Given the description of an element on the screen output the (x, y) to click on. 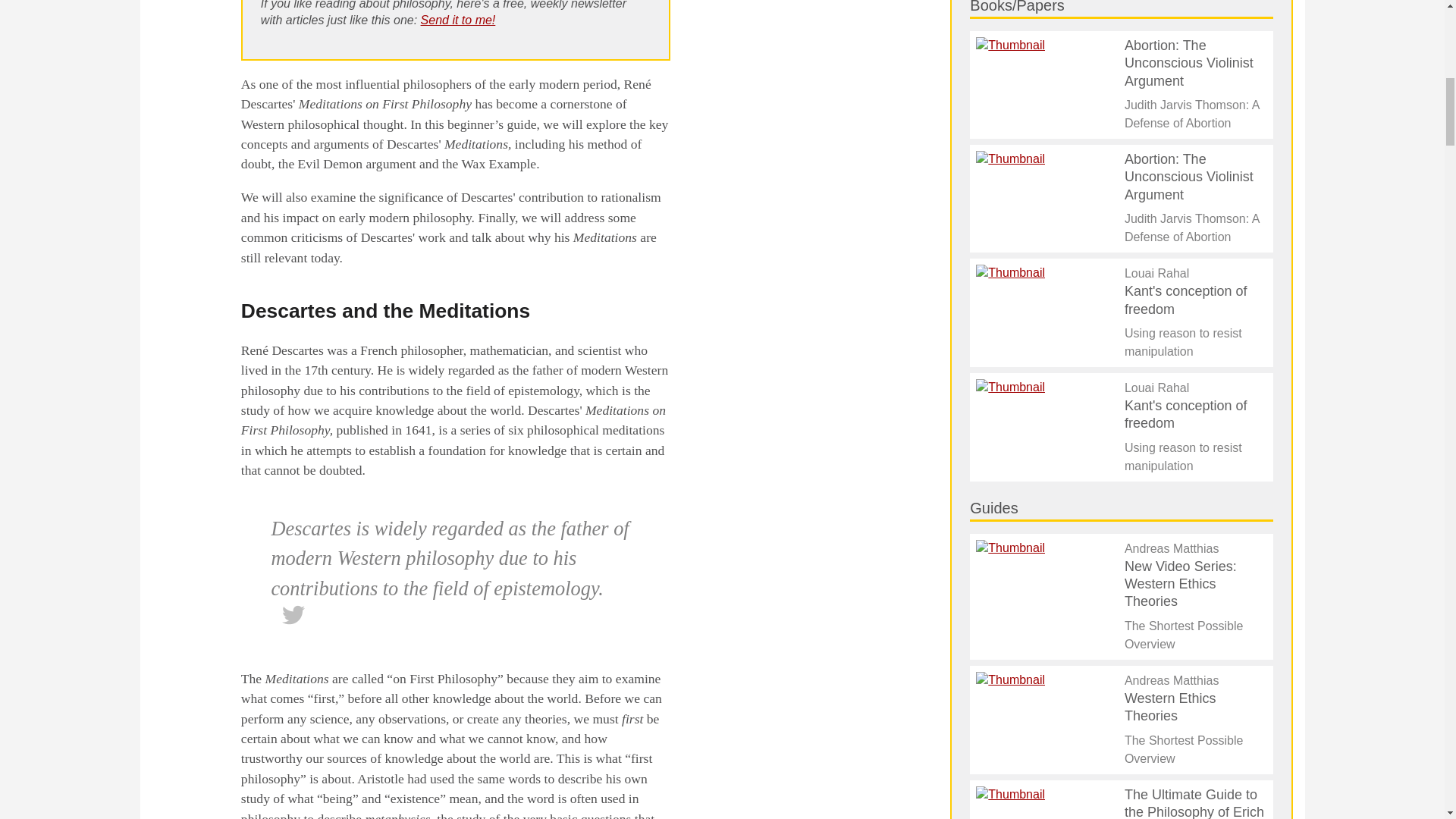
Send it to me! (458, 19)
